Given the description of an element on the screen output the (x, y) to click on. 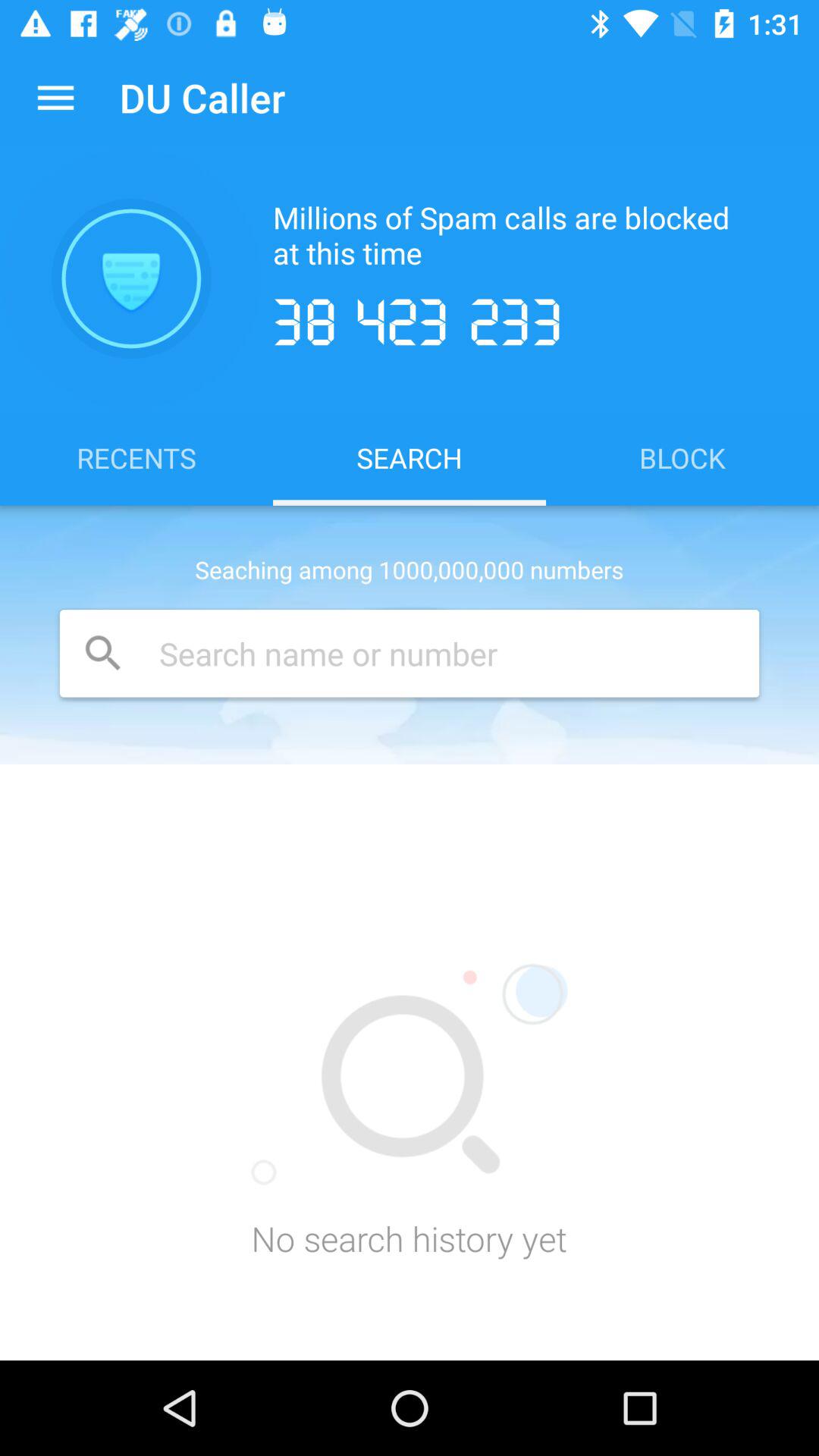
open item next to millions of spam icon (131, 278)
